Given the description of an element on the screen output the (x, y) to click on. 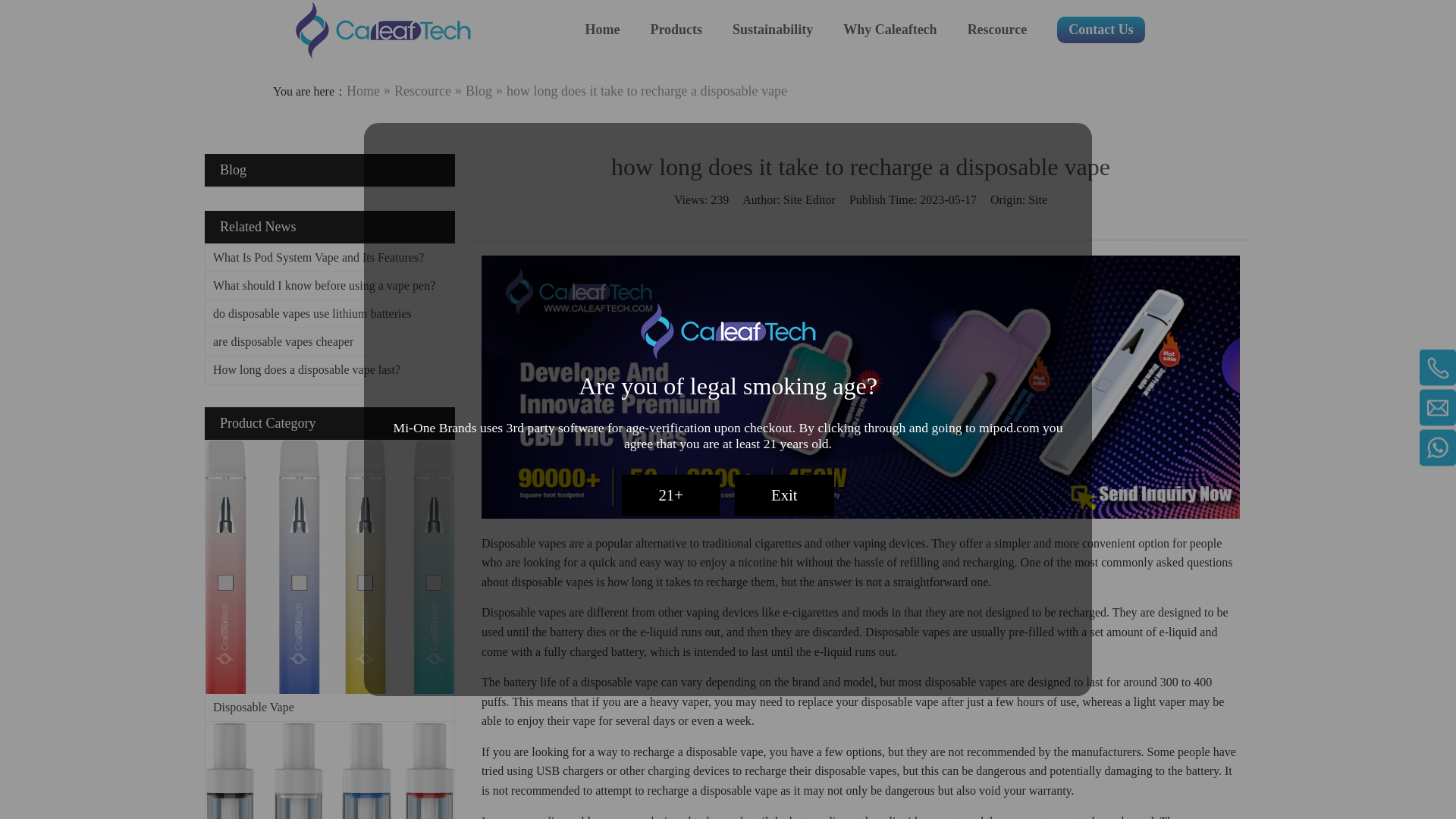
Vape Cartridge (329, 770)
Why Caleaftech (889, 30)
Sustainability (772, 30)
Products (675, 30)
Rescource (997, 30)
Caleaftech (382, 30)
Home (602, 30)
Disposable Vape (329, 566)
Contact Us (1100, 29)
